Given the description of an element on the screen output the (x, y) to click on. 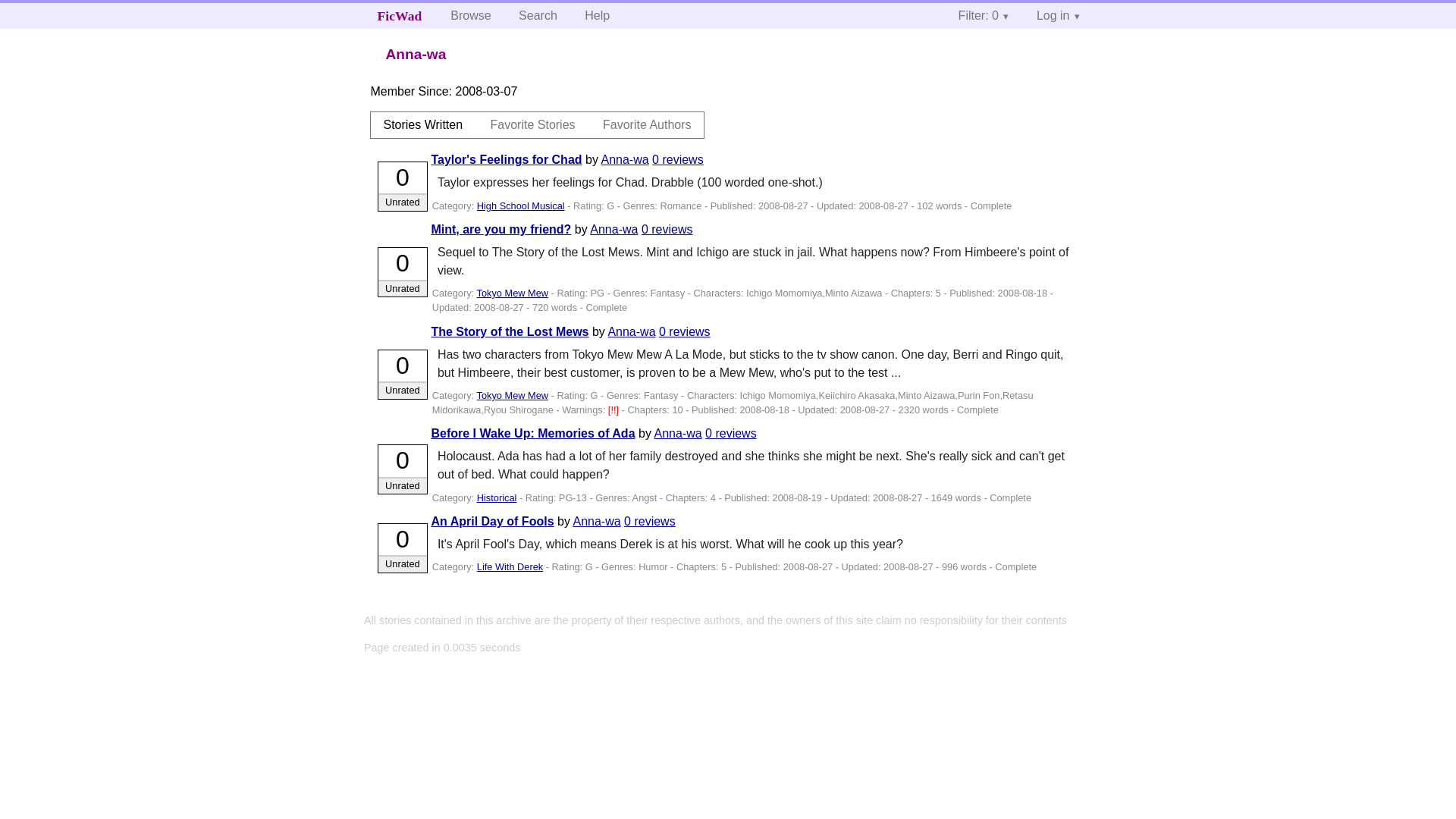
High School Musical (520, 205)
Search (537, 15)
Anna-wa (631, 331)
Tokyo Mew Mew (512, 395)
Filter: 0 (984, 15)
Tokyo Mew Mew (512, 292)
FicWad (399, 15)
0 reviews (649, 521)
0 reviews (677, 159)
0 reviews (684, 331)
